Given the description of an element on the screen output the (x, y) to click on. 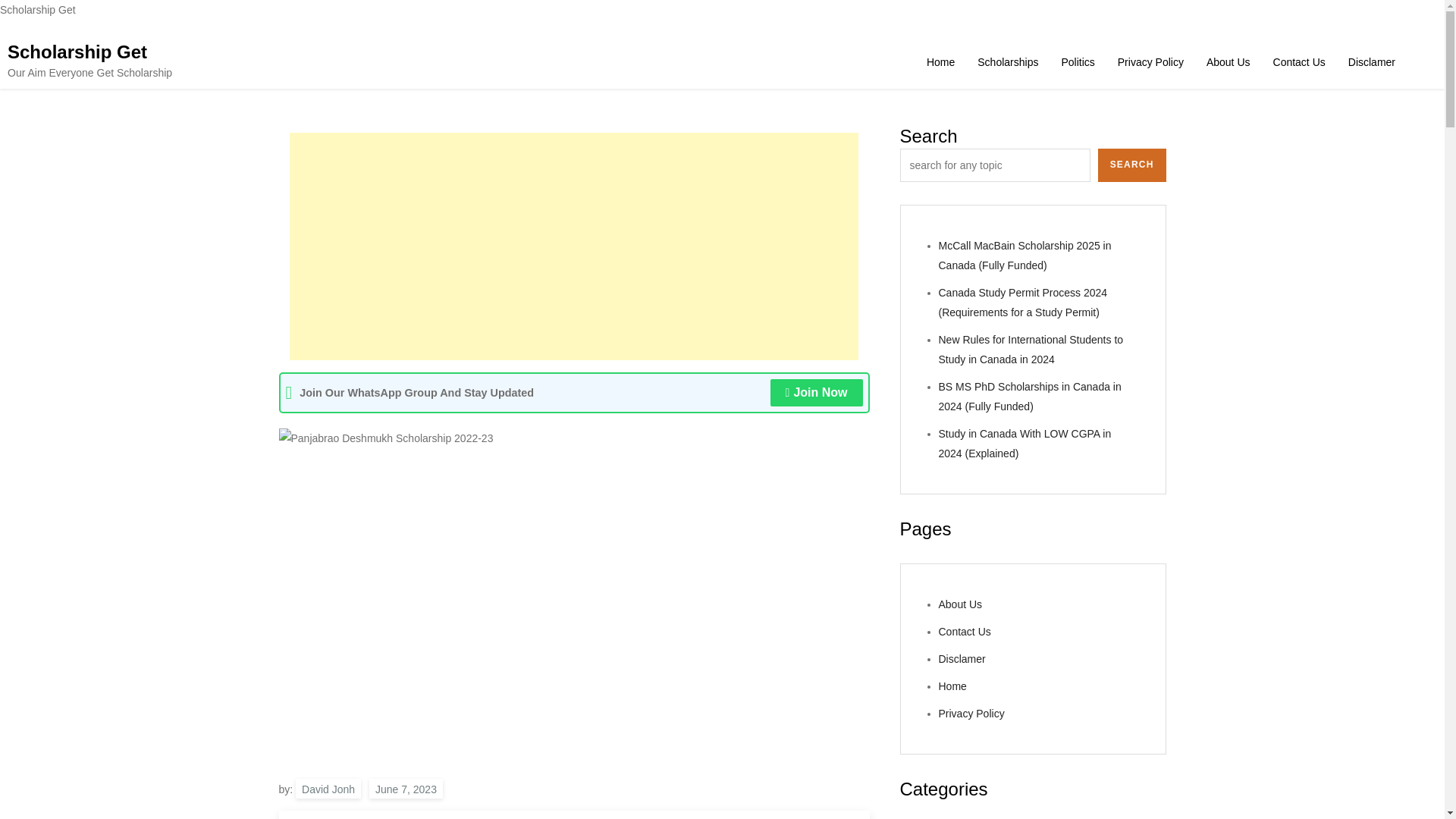
About Us (1228, 62)
Privacy Policy (1150, 62)
Politics (1077, 62)
Home (940, 62)
About Us (960, 604)
June 7, 2023 (405, 788)
Advertisement (574, 246)
Scholarship Get (77, 51)
Disclamer (1371, 62)
